Given the description of an element on the screen output the (x, y) to click on. 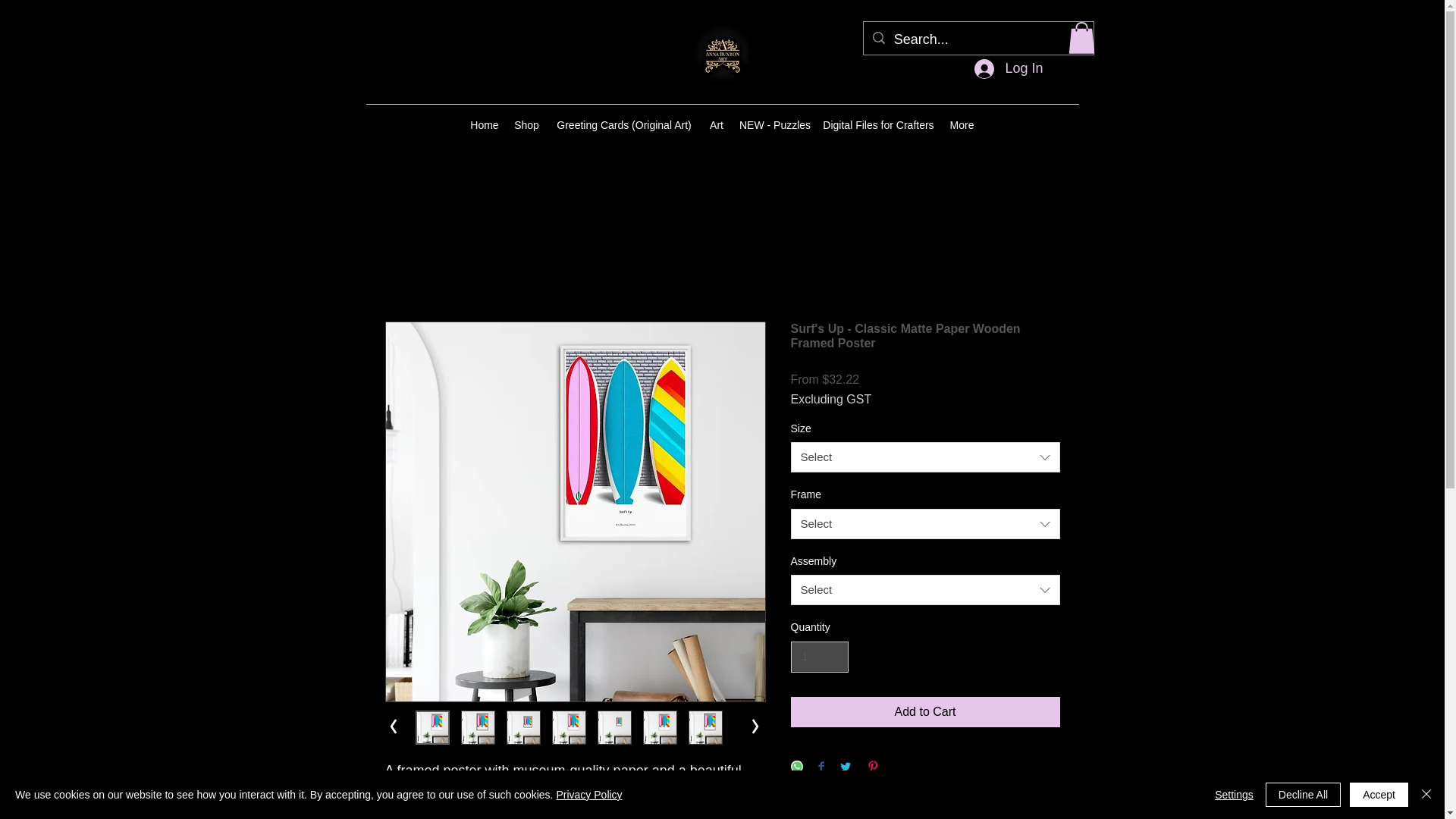
NEW - Puzzles (773, 124)
1 (818, 656)
Pin to Pinterest (631, 68)
Log In (1007, 68)
Art (716, 124)
Digital Files for Crafters (878, 124)
Home (484, 124)
Shop (526, 124)
